Given the description of an element on the screen output the (x, y) to click on. 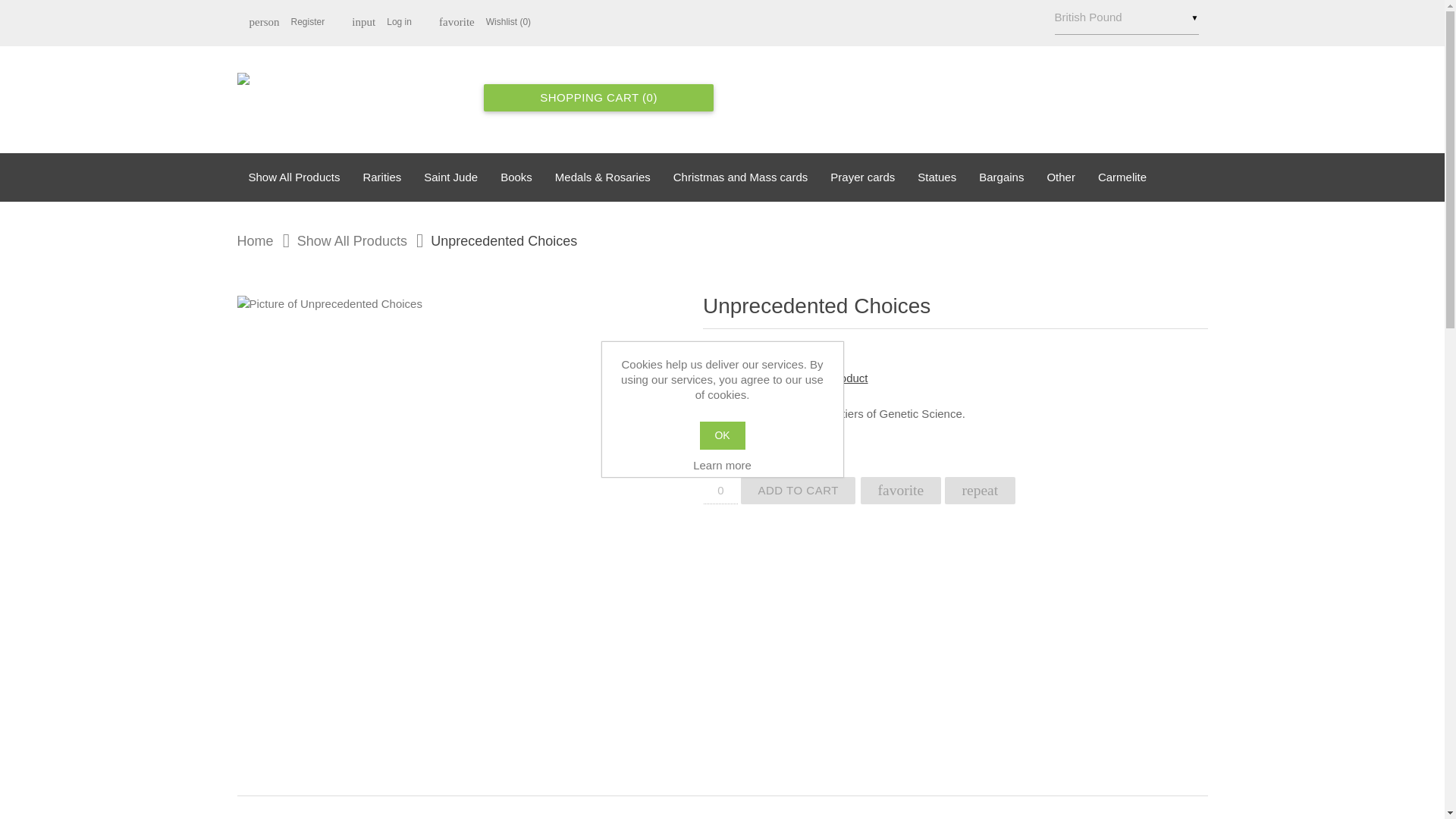
Prayer cards (382, 21)
Show All Products (861, 177)
Picture of Unprecedented Choices (292, 177)
Unprecedented Choices (286, 21)
ADD TO CART (1126, 17)
Saint Jude (493, 240)
Carmelite (798, 490)
